Given the description of an element on the screen output the (x, y) to click on. 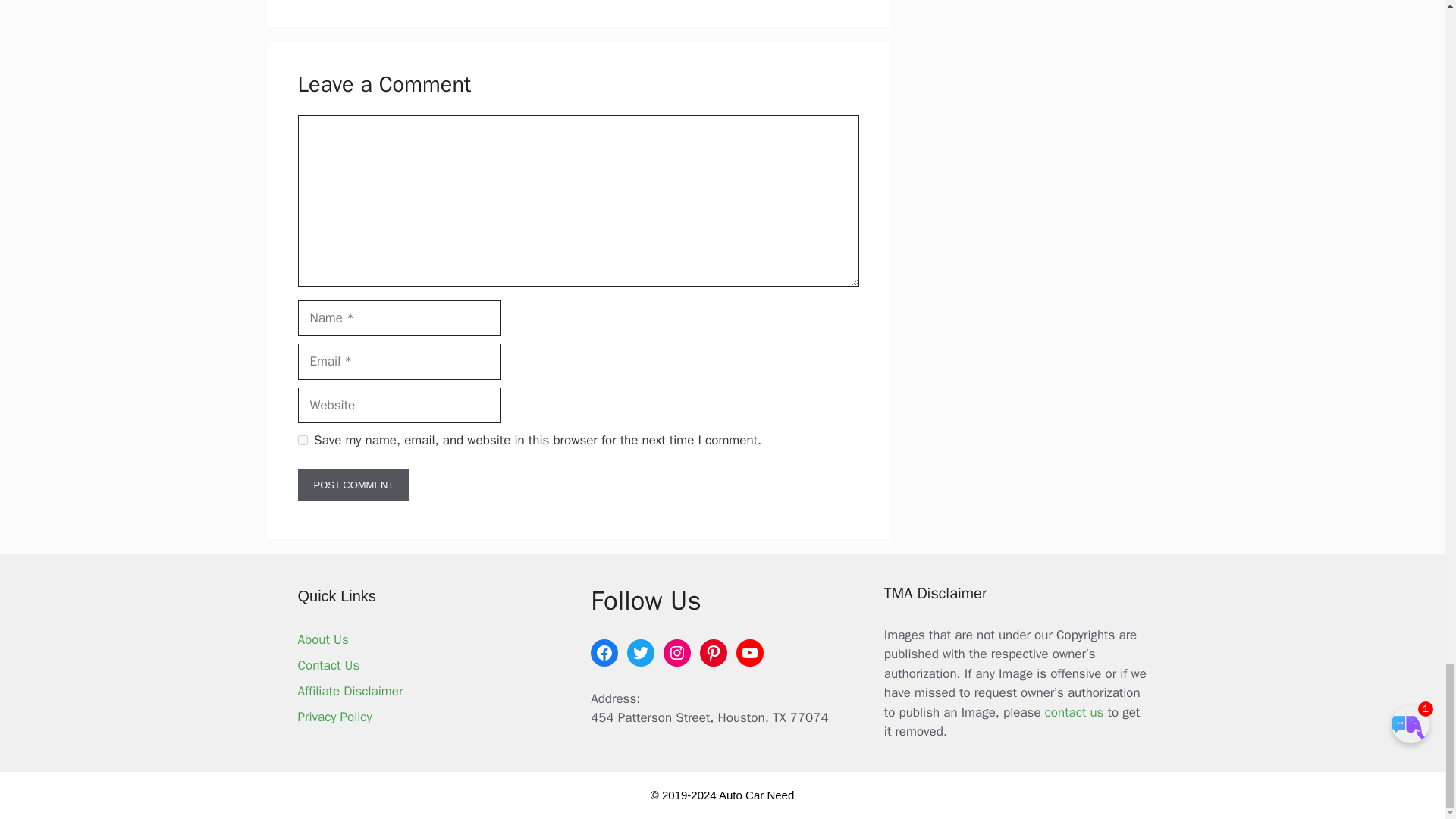
Post Comment (353, 485)
yes (302, 439)
Post Comment (353, 485)
